Given the description of an element on the screen output the (x, y) to click on. 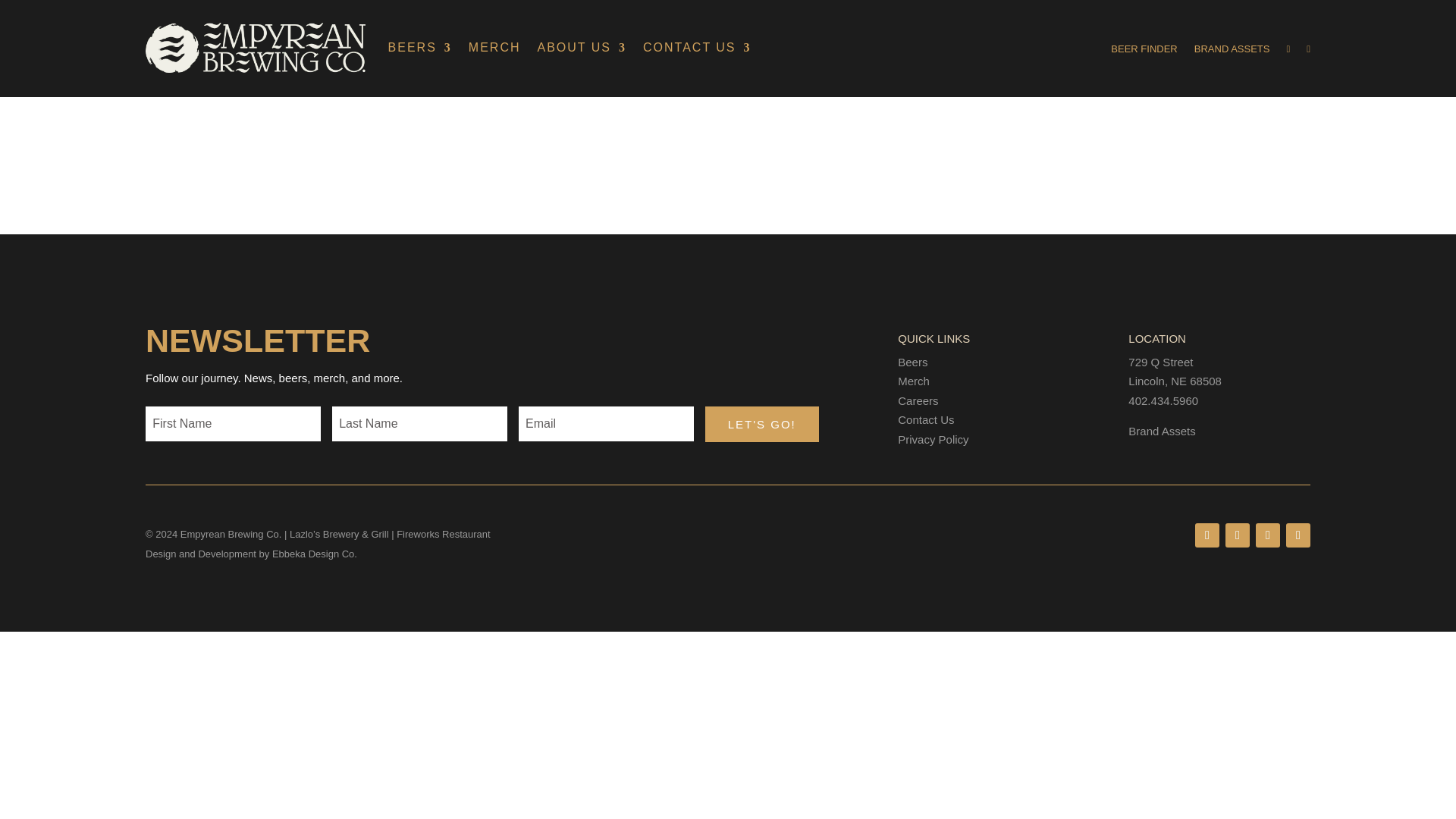
CONTACT US (697, 47)
MERCH (494, 47)
ABOUT US (582, 47)
Follow on Instagram (1267, 535)
BRAND ASSETS (1231, 52)
BEERS (419, 47)
BEER FINDER (1143, 52)
Follow on Facebook (1237, 535)
Follow on Google (1207, 535)
Follow on X (1297, 535)
